Given the description of an element on the screen output the (x, y) to click on. 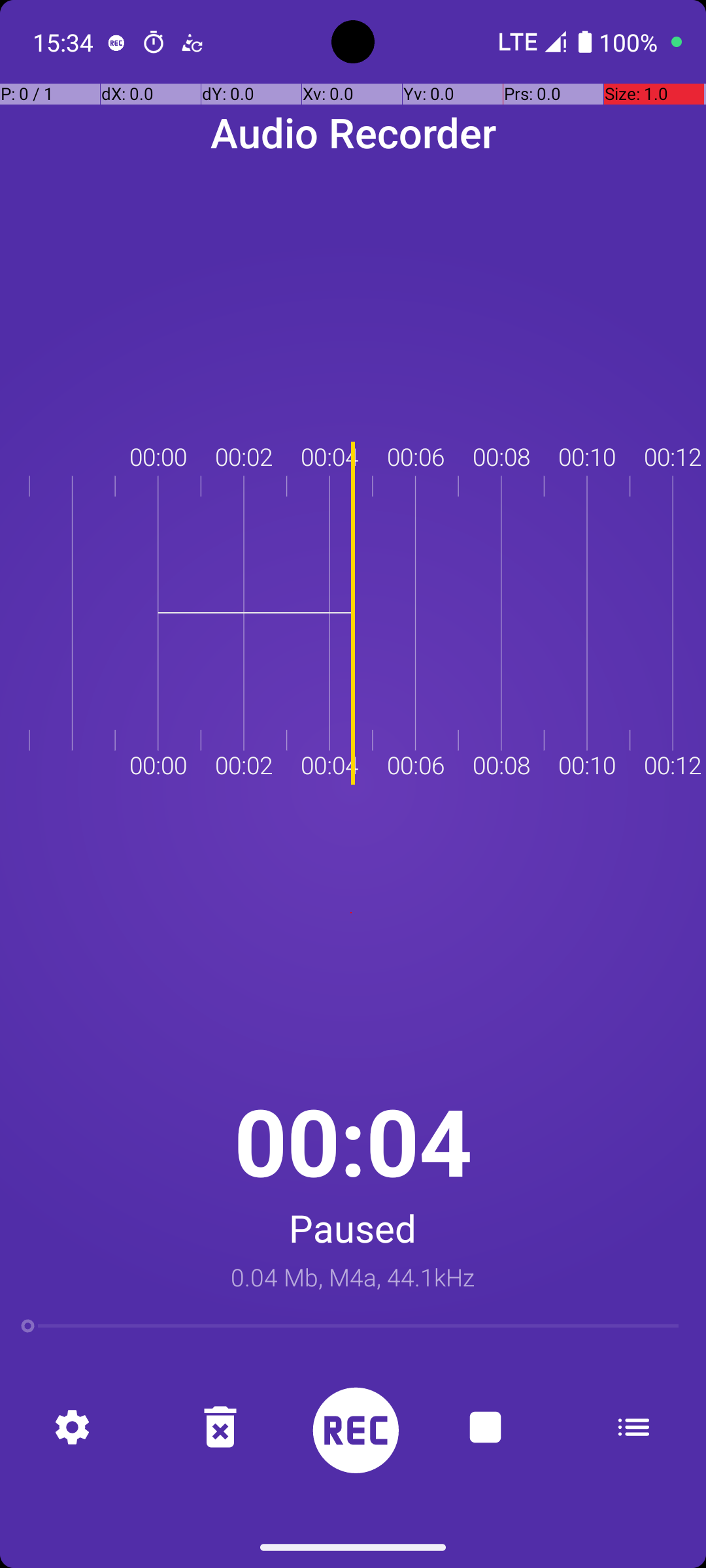
00:04 Element type: android.widget.TextView (352, 1140)
Paused Element type: android.widget.TextView (352, 1227)
0.04 Mb, M4a, 44.1kHz Element type: android.widget.TextView (352, 1276)
Recording: %s Element type: android.widget.ImageButton (352, 1427)
Audio Recorder notification:  Element type: android.widget.ImageView (115, 41)
VLC notification: Scanning for media files Element type: android.widget.ImageView (191, 41)
